Given the description of an element on the screen output the (x, y) to click on. 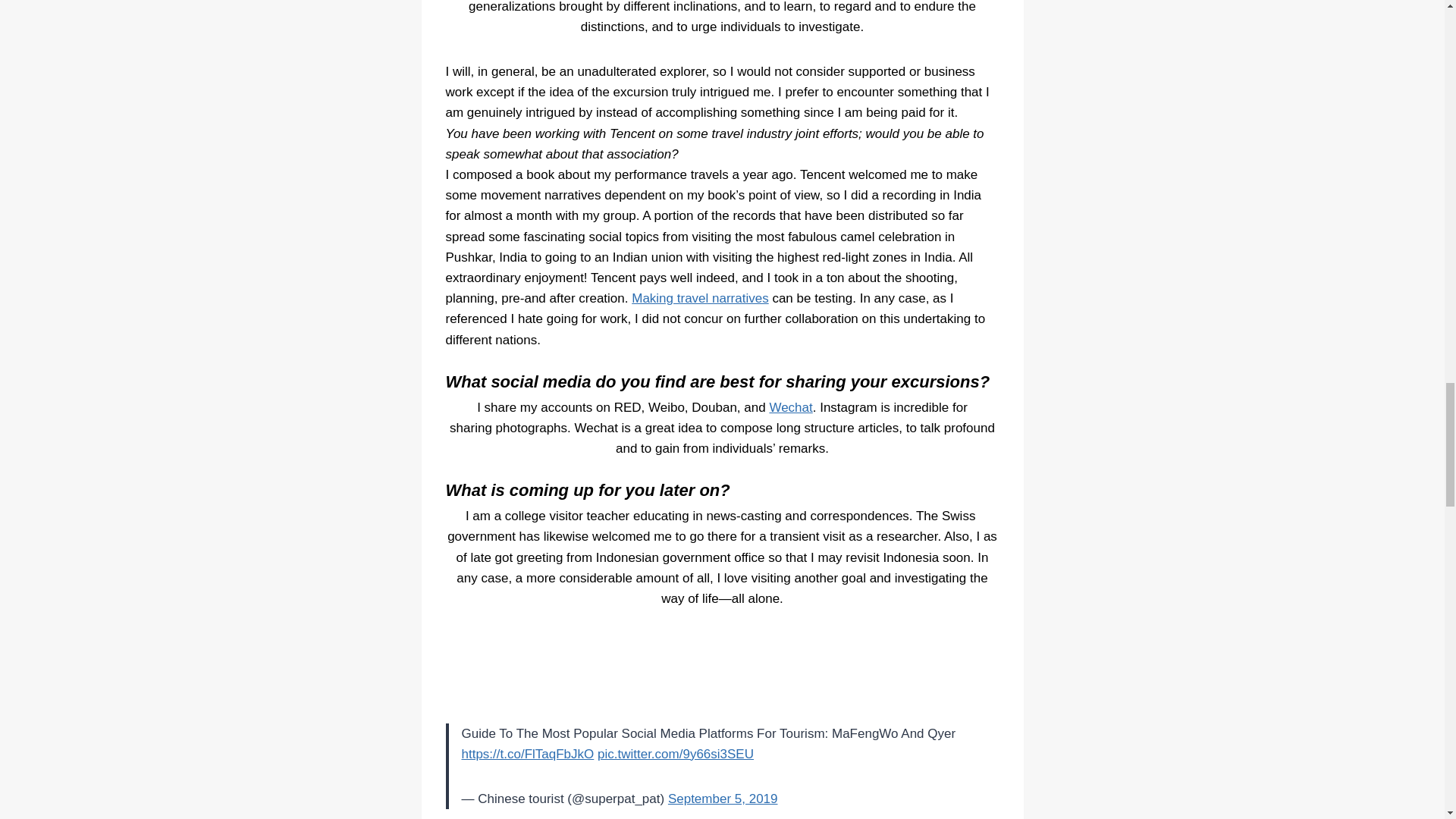
Making travel narratives (699, 298)
Wechat (790, 407)
September 5, 2019 (722, 798)
